Given the description of an element on the screen output the (x, y) to click on. 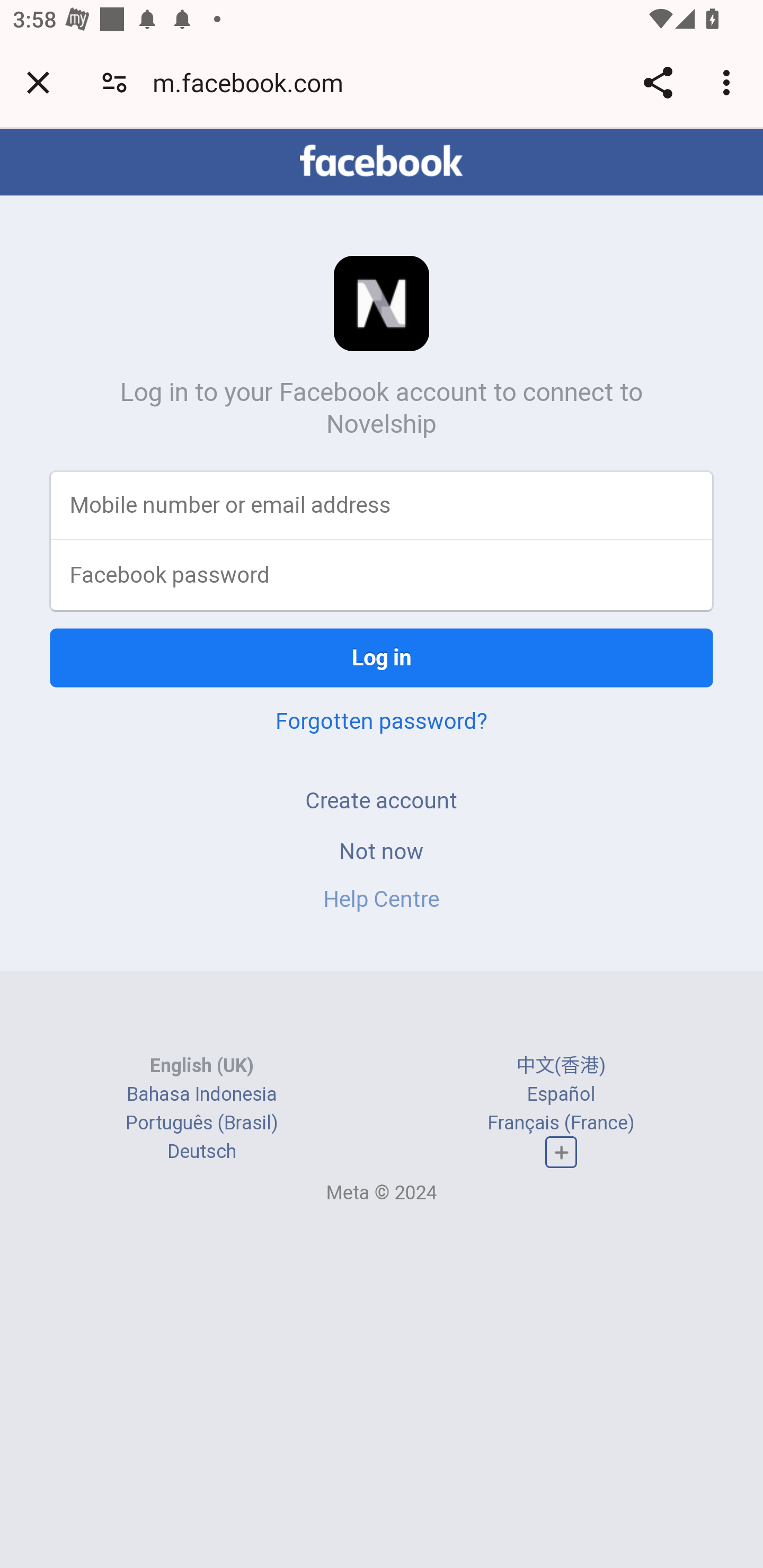
Close tab (38, 82)
Share (657, 82)
Customize and control Google Chrome (729, 82)
Connection is secure (114, 81)
m.facebook.com (254, 81)
facebook (381, 160)
Log in (381, 657)
Forgotten password? (381, 720)
Create account (381, 800)
Not now (381, 850)
Help Centre (381, 898)
中文(香港) (561, 1065)
Bahasa Indonesia (201, 1093)
Español (560, 1093)
Português (Brasil) (201, 1122)
Français (France) (560, 1122)
Complete list of languages (560, 1152)
Deutsch (201, 1151)
